Given the description of an element on the screen output the (x, y) to click on. 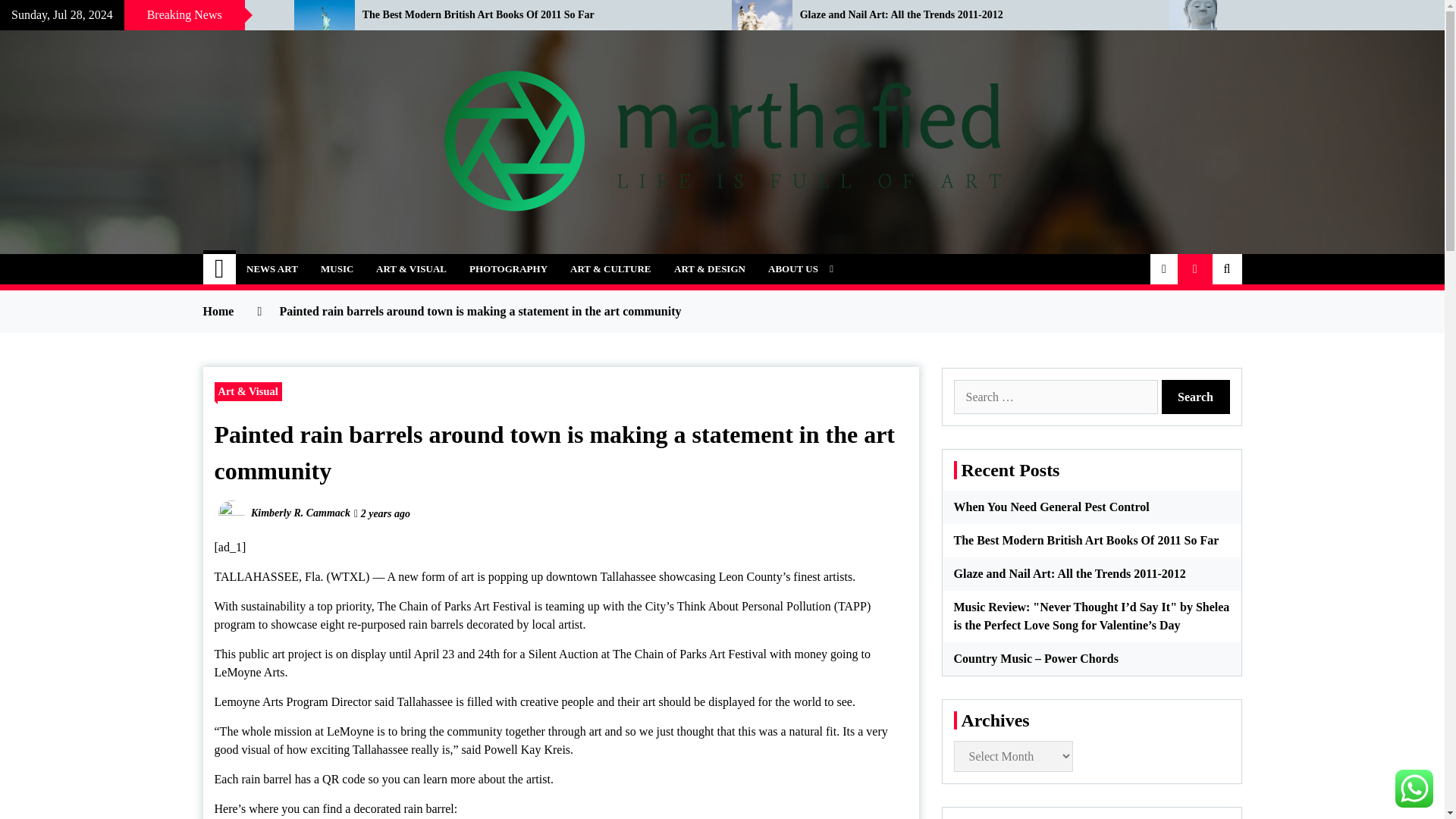
When You Need General Pest Control (135, 15)
The Best Modern British Art Books Of 2011 So Far (535, 15)
Search (1195, 397)
Search (1195, 397)
Glaze and Nail Art: All the Trends 2011-2012 (973, 15)
Home (219, 268)
